Given the description of an element on the screen output the (x, y) to click on. 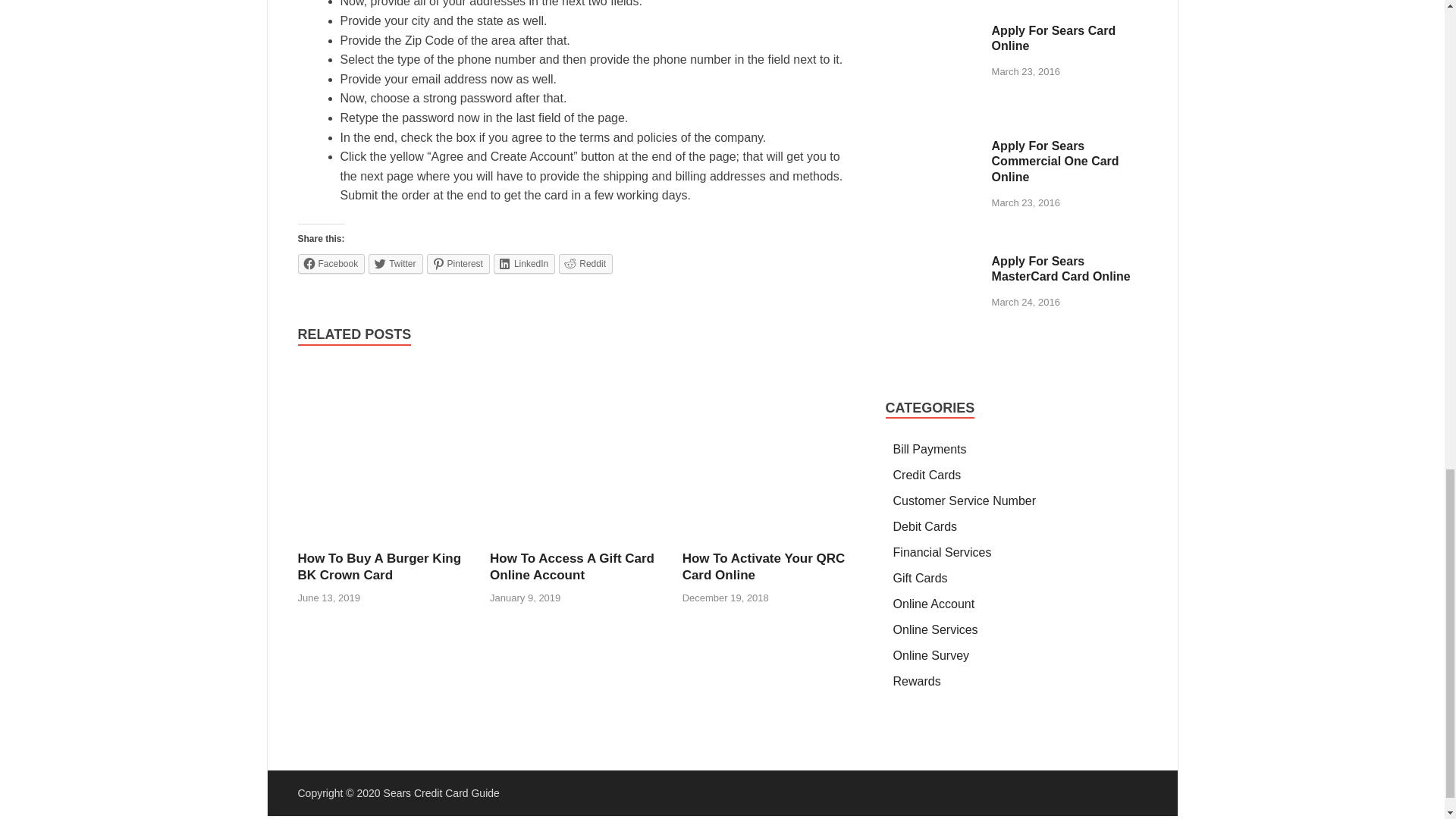
How To Buy A Burger King BK Crown Card (383, 540)
How To Activate Your QRC Card Online (763, 566)
Facebook (331, 263)
LinkedIn (523, 263)
Click to share on Twitter (395, 263)
How To Activate Your QRC Card Online (769, 540)
Twitter (395, 263)
How To Buy A Burger King BK Crown Card (379, 566)
How To Access A Gift Card Online Account (571, 566)
How To Access A Gift Card Online Account (575, 540)
